Given the description of an element on the screen output the (x, y) to click on. 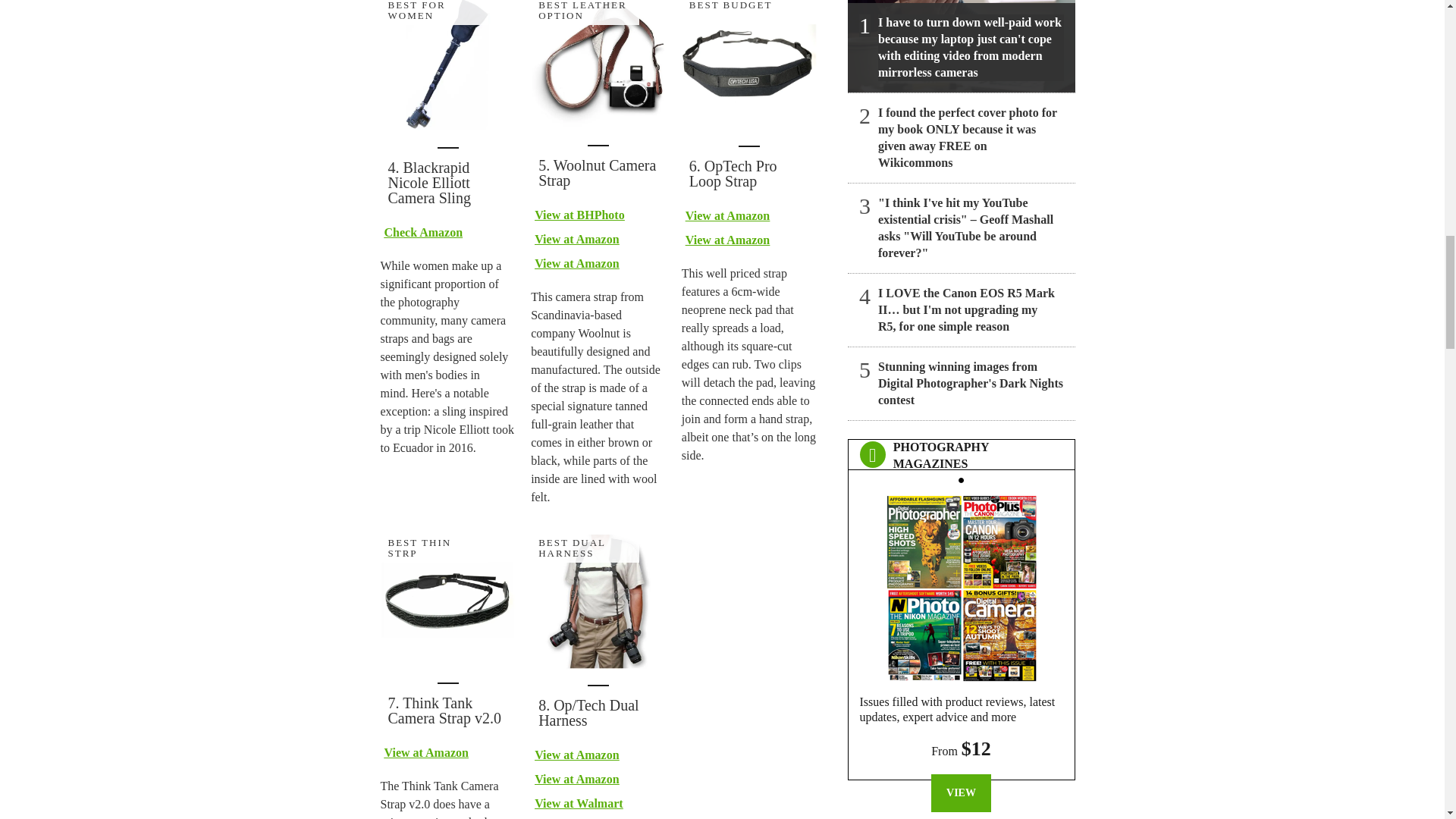
Photography Magazines (960, 584)
